Given the description of an element on the screen output the (x, y) to click on. 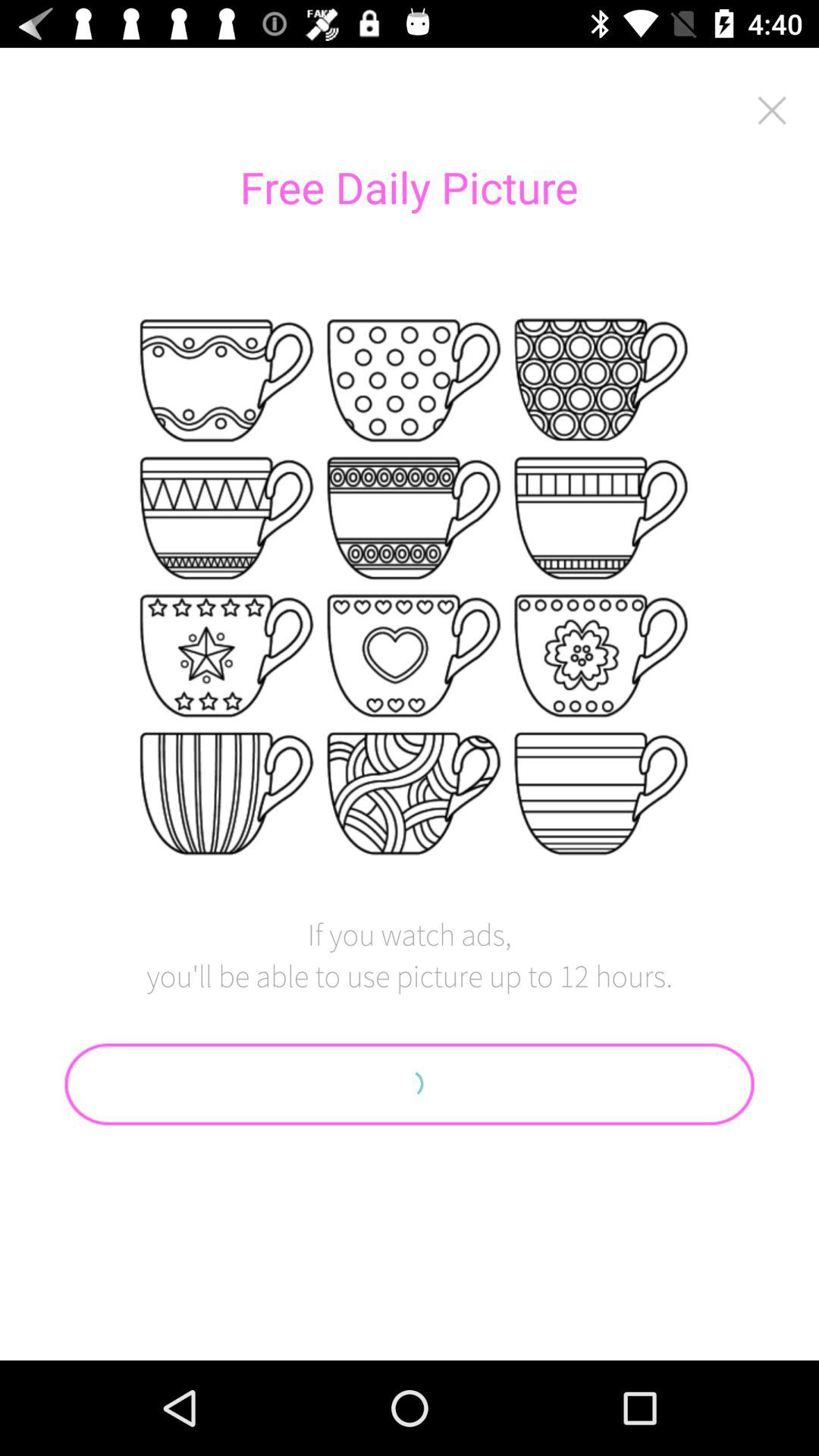
exit screen (772, 110)
